Given the description of an element on the screen output the (x, y) to click on. 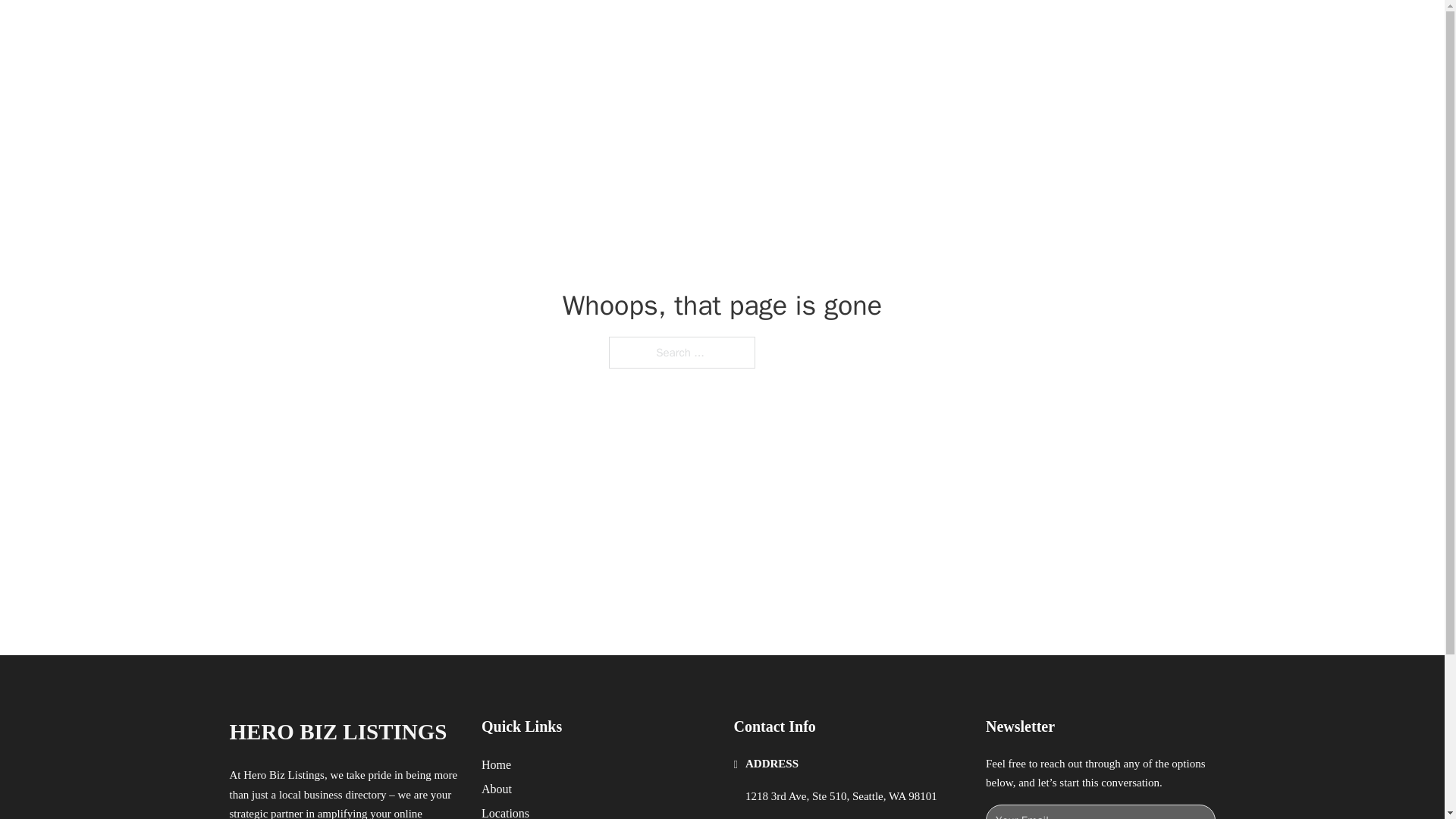
Locations (505, 811)
LOCATIONS (990, 29)
HOME (919, 29)
About (496, 788)
HERO BIZ LISTINGS (337, 732)
Home (496, 764)
